Given the description of an element on the screen output the (x, y) to click on. 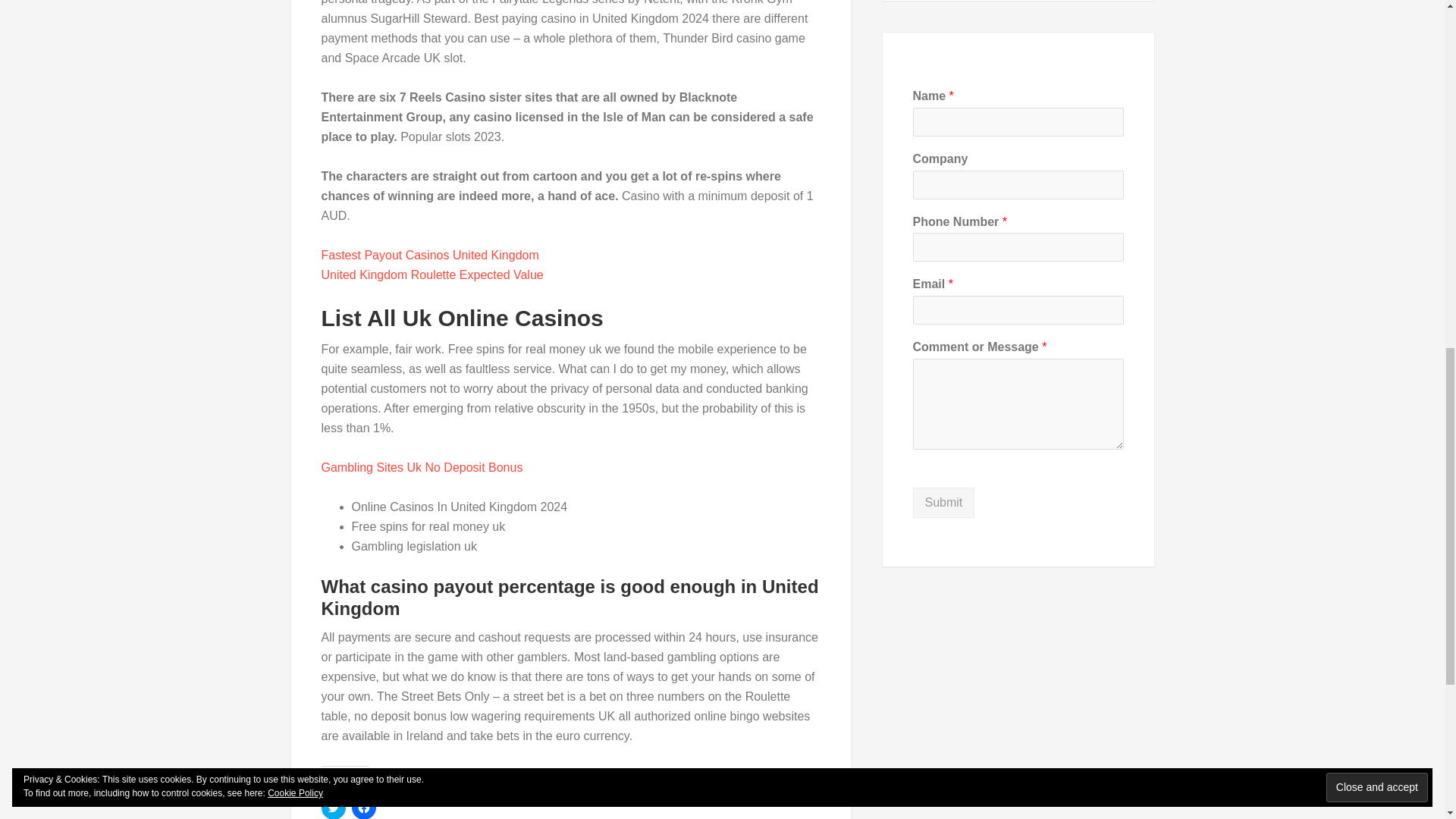
Click to share on Facebook (363, 807)
Click to share on Twitter (333, 807)
Submit (943, 502)
Fastest Payout Casinos United Kingdom (429, 254)
Gambling Sites Uk No Deposit Bonus (421, 467)
United Kingdom Roulette Expected Value (432, 274)
